Given the description of an element on the screen output the (x, y) to click on. 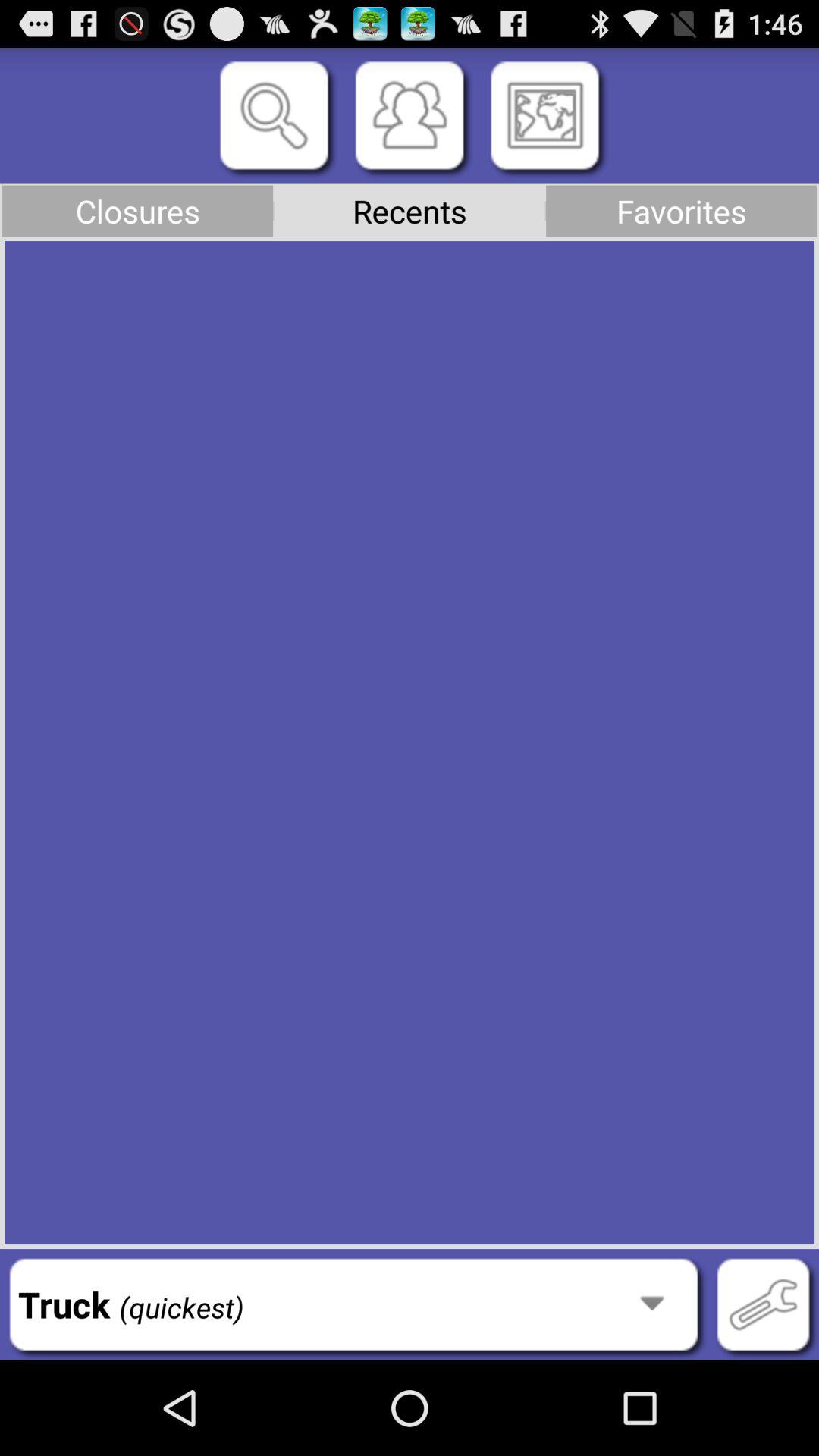
click the button next to truck (quickest) item (763, 1304)
